Given the description of an element on the screen output the (x, y) to click on. 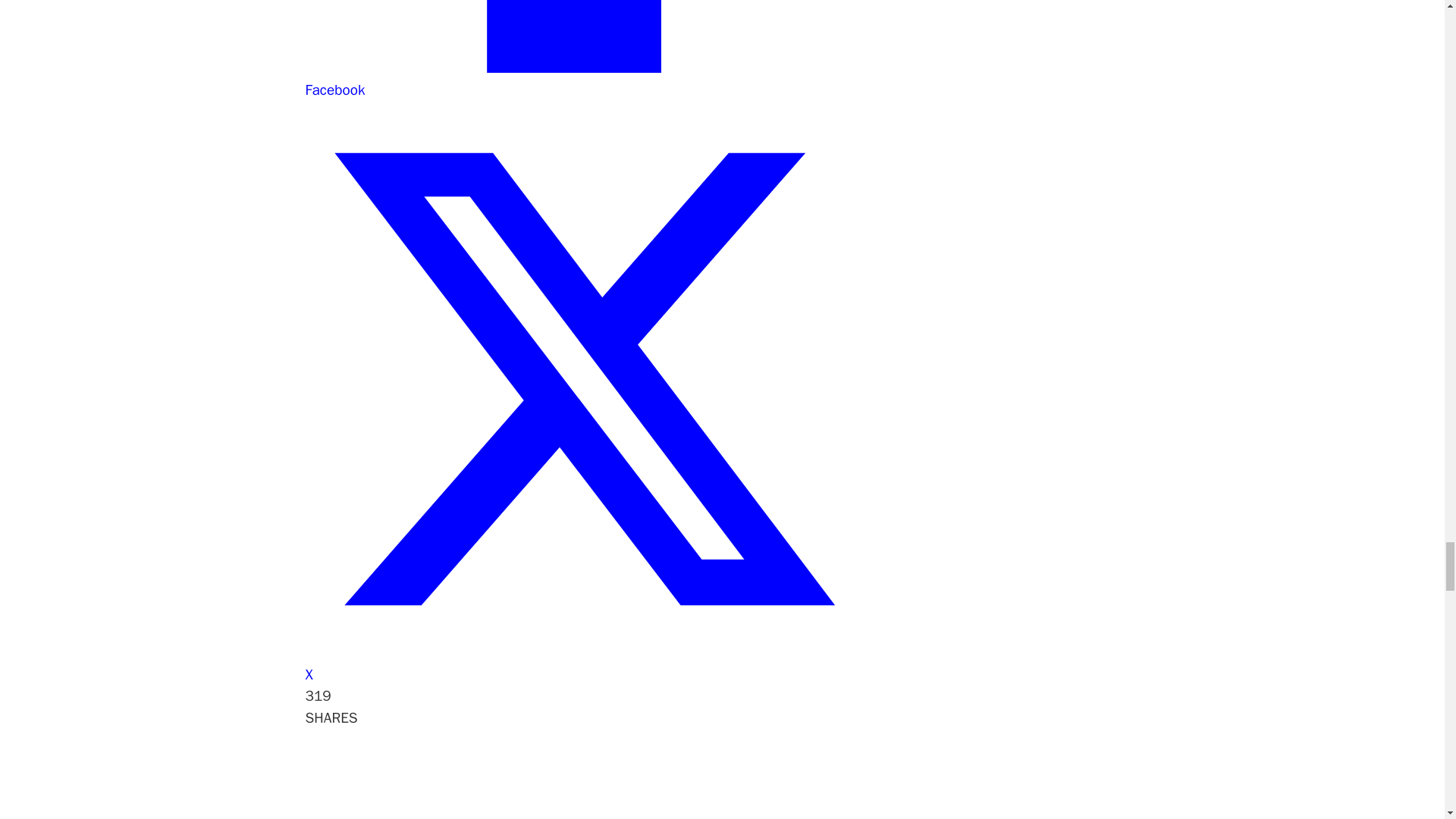
X (582, 663)
Facebook (582, 78)
